Given the description of an element on the screen output the (x, y) to click on. 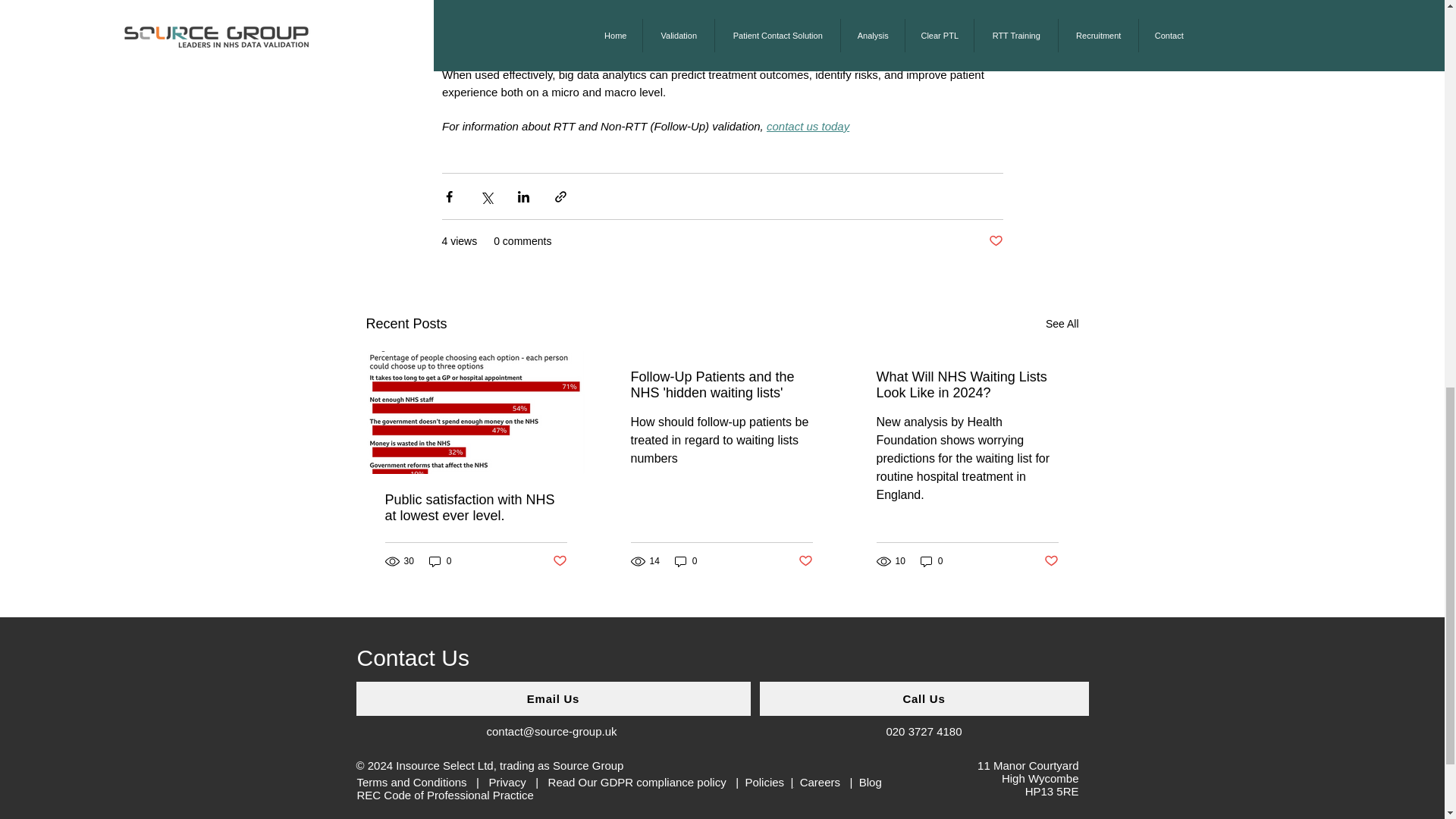
Post not marked as liked (995, 241)
0 (685, 560)
Public satisfaction with NHS at lowest ever level. (476, 508)
Privacy (506, 781)
What Will NHS Waiting Lists Look Like in 2024? (967, 385)
Post not marked as liked (804, 561)
contact us today (806, 125)
Email Us (553, 698)
Follow-Up Patients and the NHS 'hidden waiting lists' (721, 385)
Post not marked as liked (558, 561)
Post not marked as liked (1050, 561)
0 (931, 560)
See All (1061, 323)
0 (440, 560)
Policies   (767, 781)
